Given the description of an element on the screen output the (x, y) to click on. 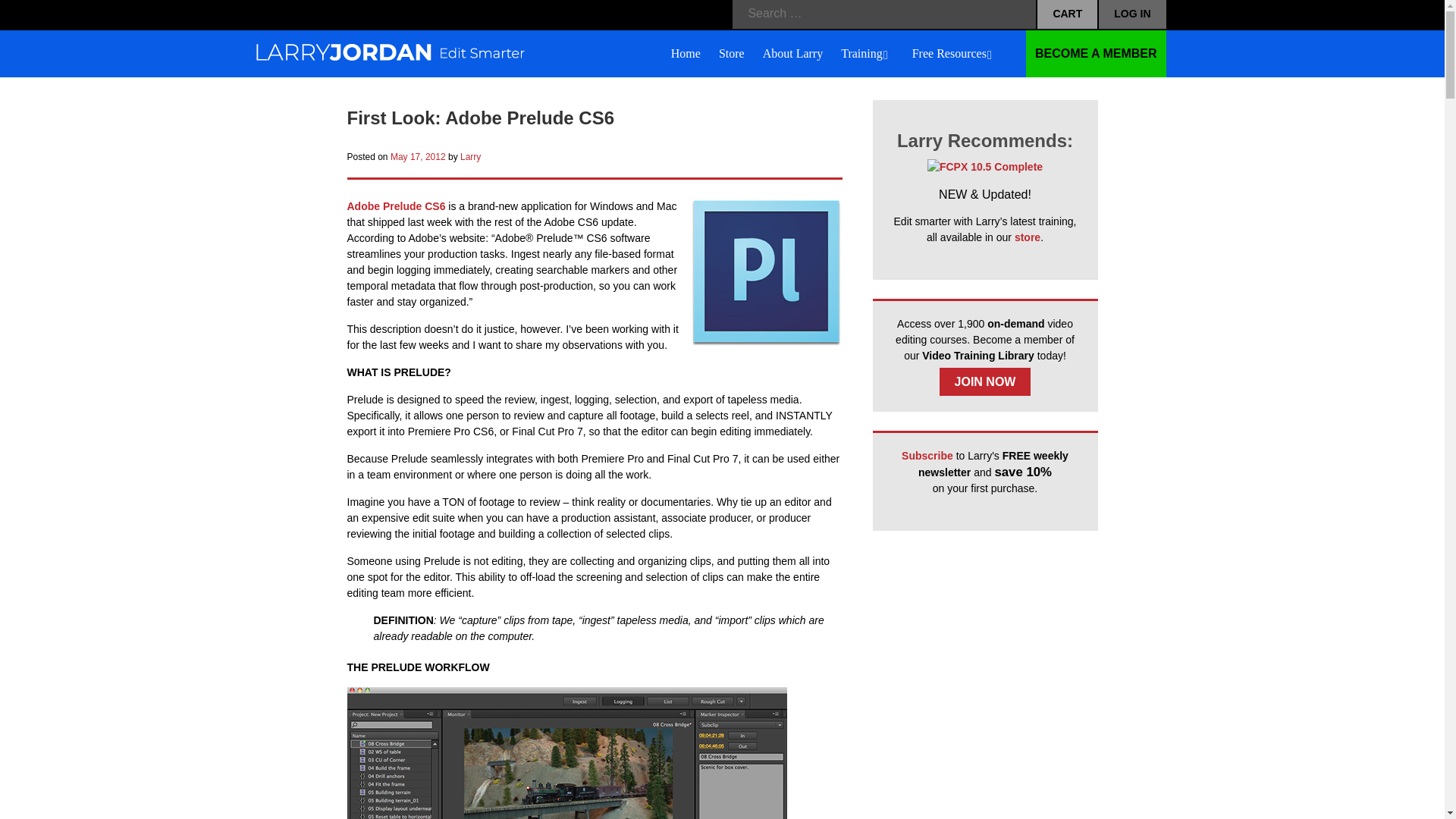
May 17, 2012 (417, 156)
About Larry (793, 54)
Become a Member (1096, 53)
LOG IN (1132, 14)
View all posts by Larry (470, 156)
CART (1066, 14)
Log In (1132, 14)
Training (867, 54)
10:41 am (417, 156)
prelude-02 (567, 753)
